Given the description of an element on the screen output the (x, y) to click on. 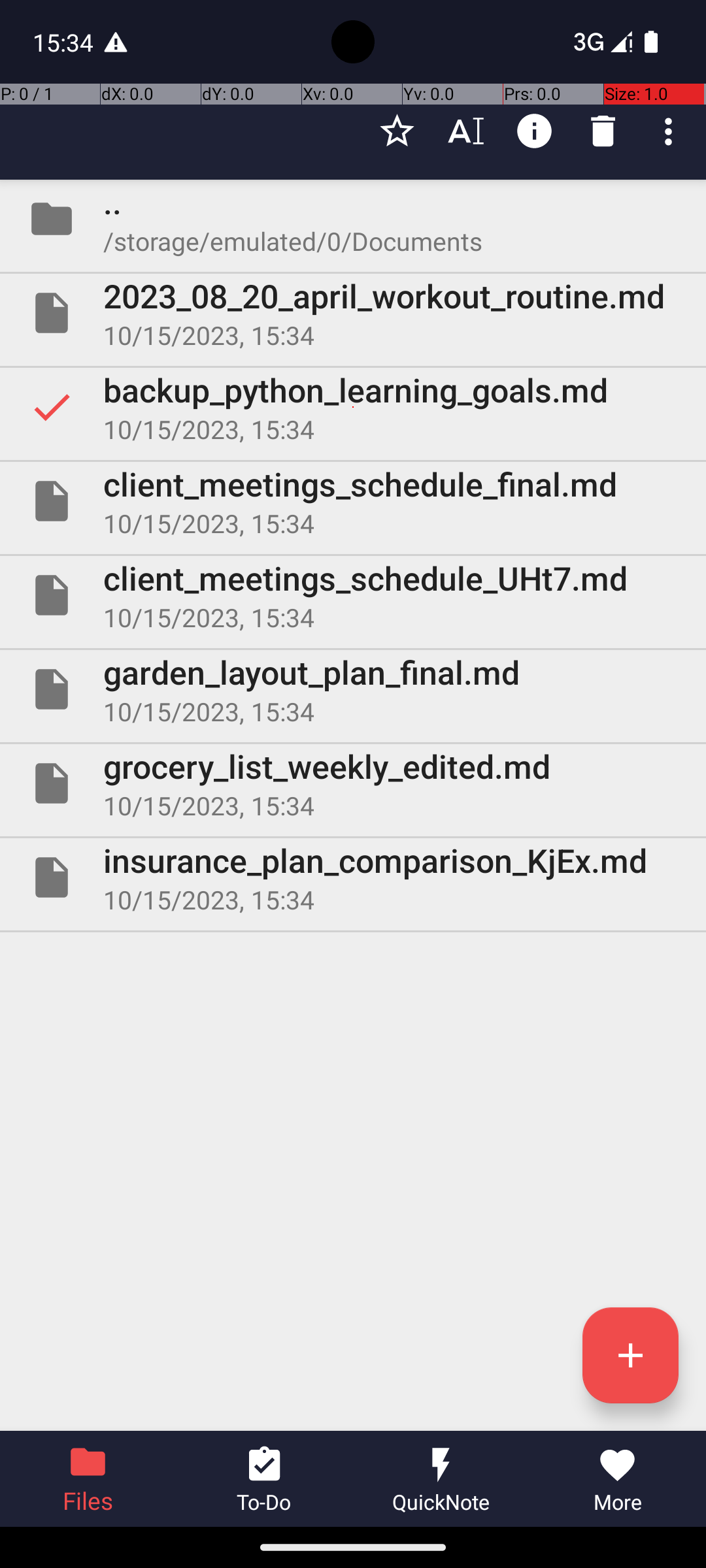
Favourite Element type: android.widget.TextView (396, 131)
Rename Element type: android.widget.TextView (465, 131)
Details Element type: android.widget.TextView (534, 131)
File 2023_08_20_april_workout_routine.md  Element type: android.widget.LinearLayout (353, 312)
Selected backup_python_learning_goals.md  Element type: android.widget.LinearLayout (353, 406)
File client_meetings_schedule_final.md  Element type: android.widget.LinearLayout (353, 500)
File client_meetings_schedule_UHt7.md  Element type: android.widget.LinearLayout (353, 594)
File garden_layout_plan_final.md  Element type: android.widget.LinearLayout (353, 689)
File grocery_list_weekly_edited.md  Element type: android.widget.LinearLayout (353, 783)
File insurance_plan_comparison_KjEx.md  Element type: android.widget.LinearLayout (353, 877)
